Given the description of an element on the screen output the (x, y) to click on. 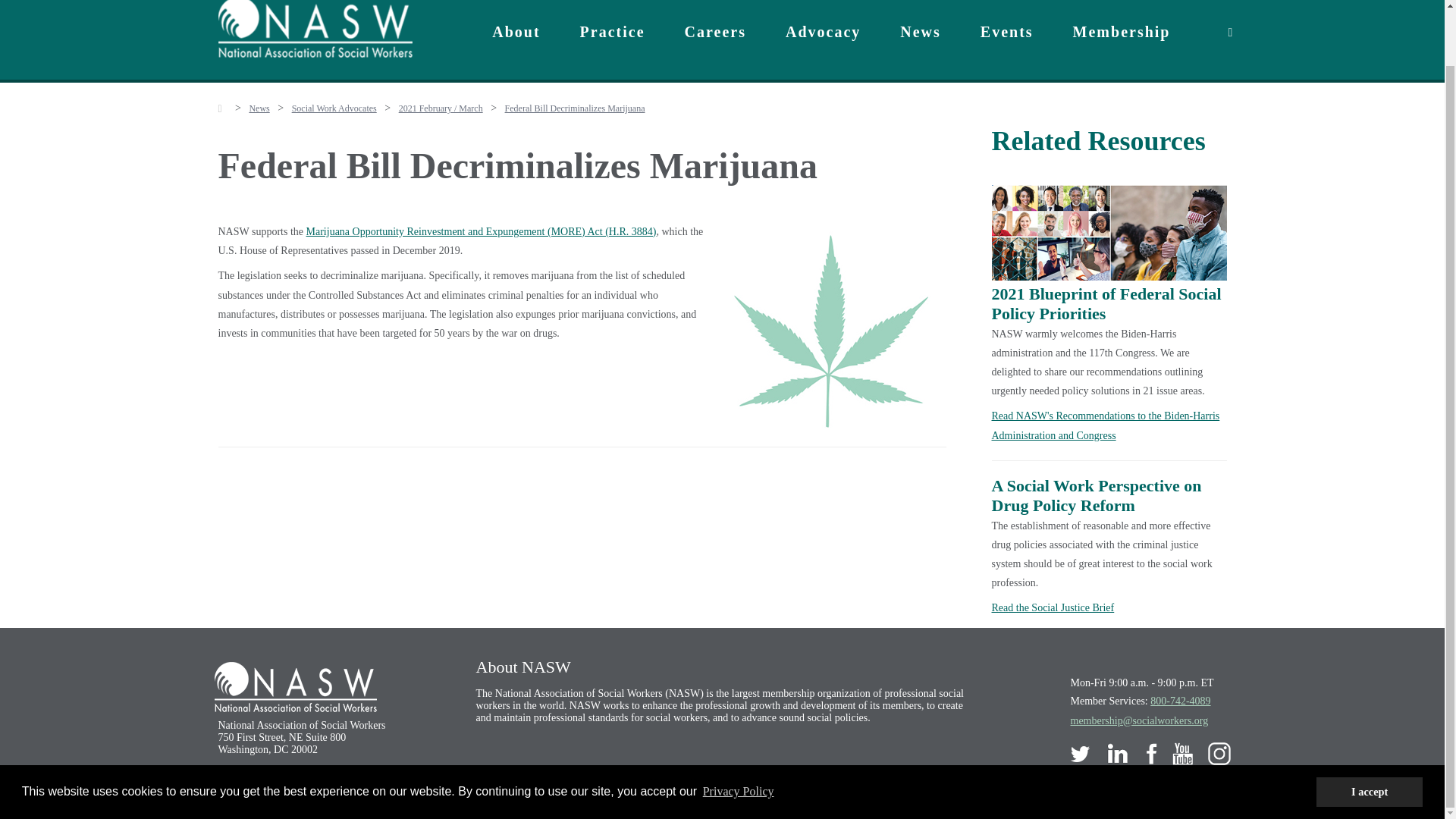
Privacy Policy (738, 730)
About (515, 30)
I accept (1369, 730)
Practice (612, 30)
About (515, 30)
Practice (612, 30)
Careers (715, 30)
Advocacy (822, 30)
